Given the description of an element on the screen output the (x, y) to click on. 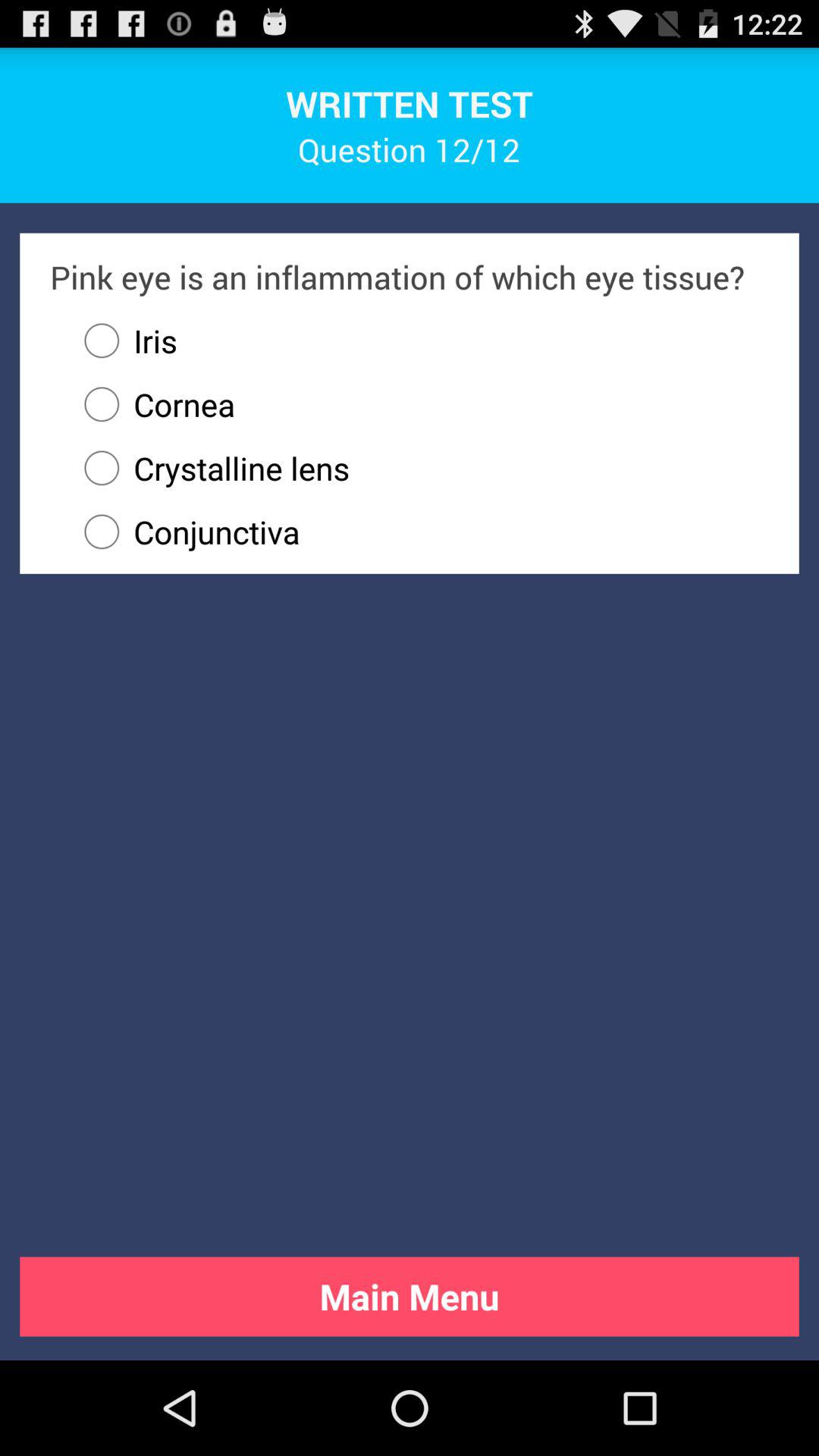
open the iris icon (123, 340)
